Given the description of an element on the screen output the (x, y) to click on. 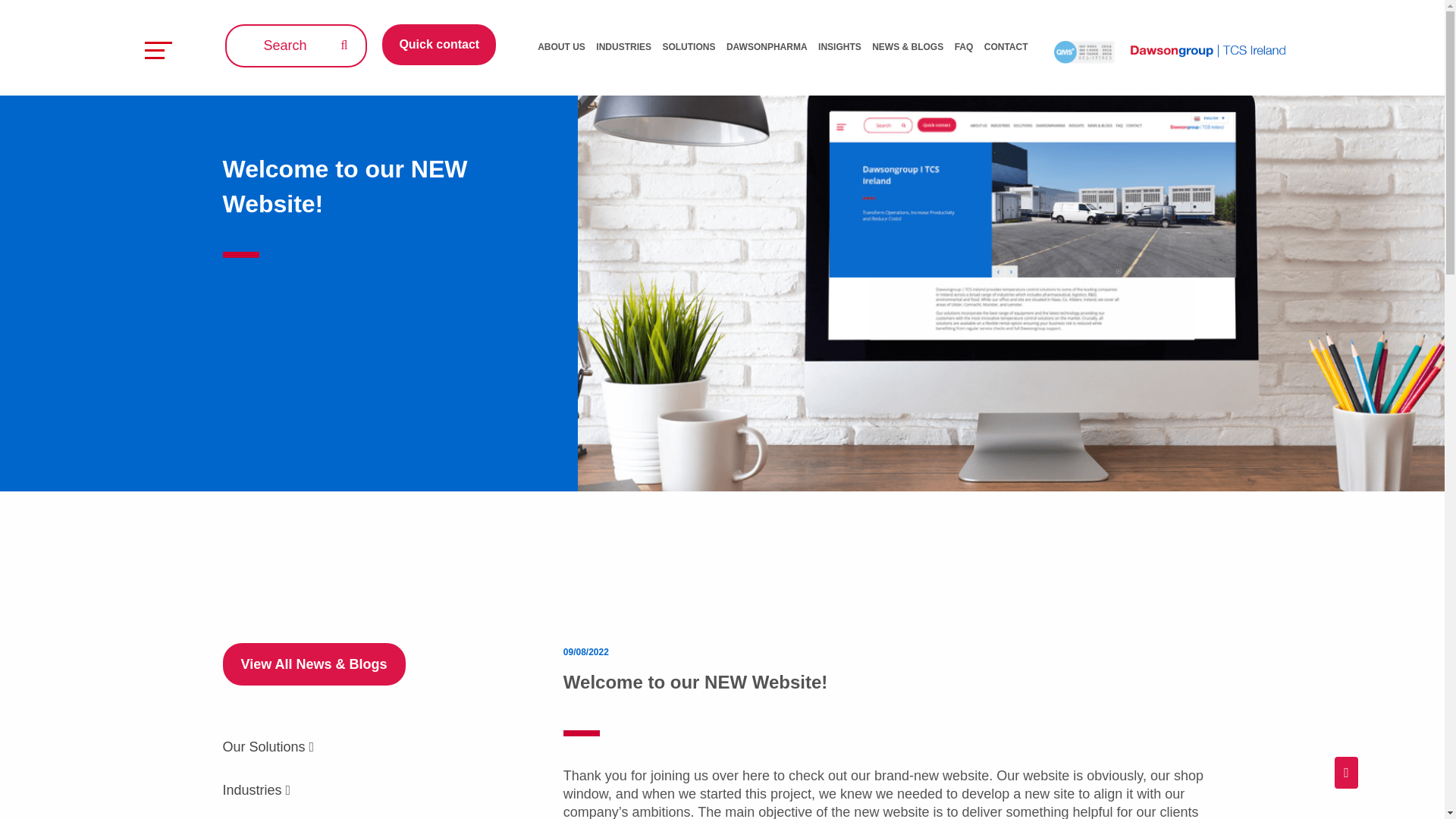
CONTACT (1005, 46)
Quick contact (438, 44)
ABOUT US (561, 46)
SOLUTIONS (688, 46)
INDUSTRIES (622, 46)
INSIGHTS (839, 46)
DAWSONPHARMA (767, 46)
